Given the description of an element on the screen output the (x, y) to click on. 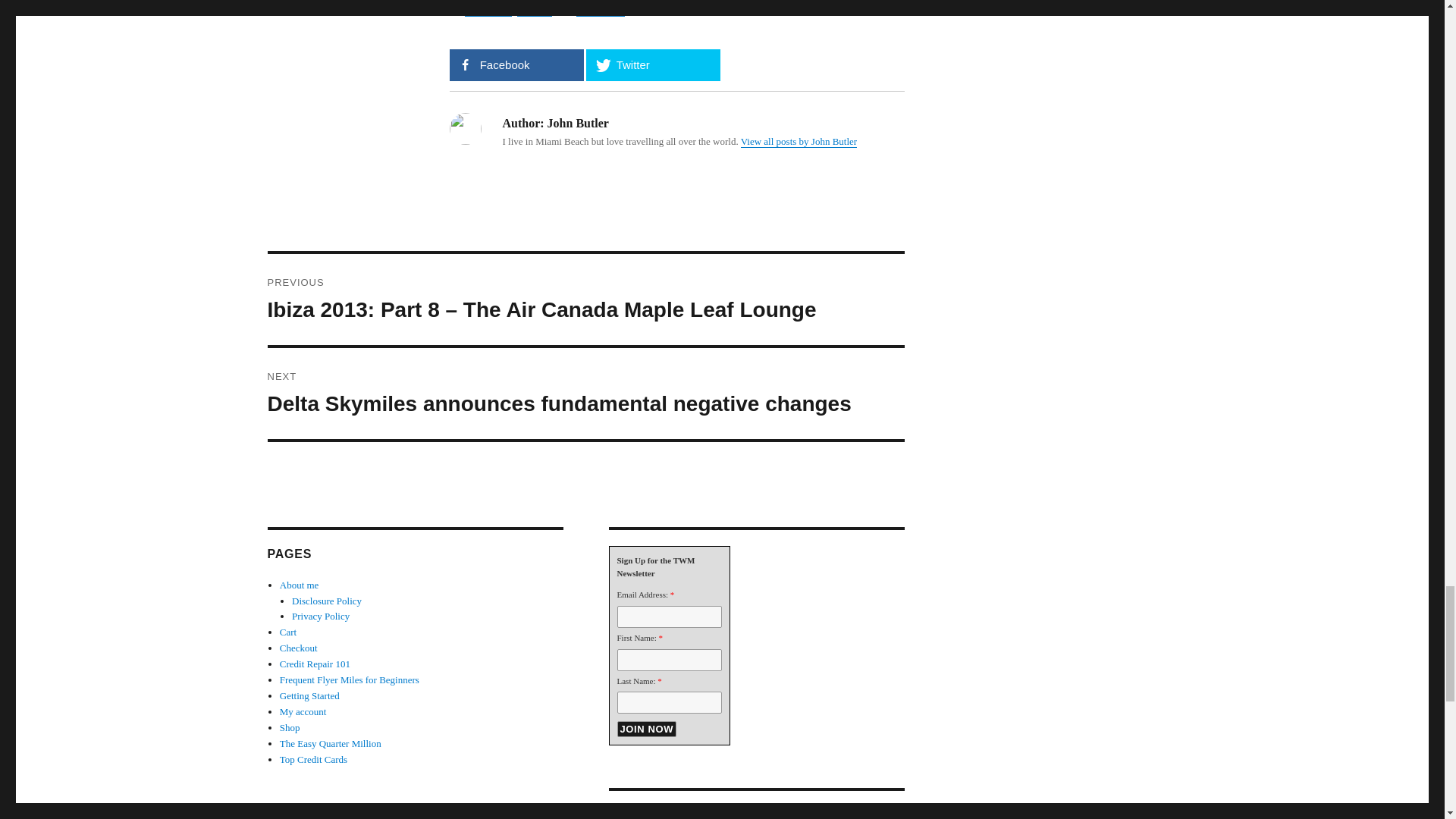
Join Now (647, 729)
